Given the description of an element on the screen output the (x, y) to click on. 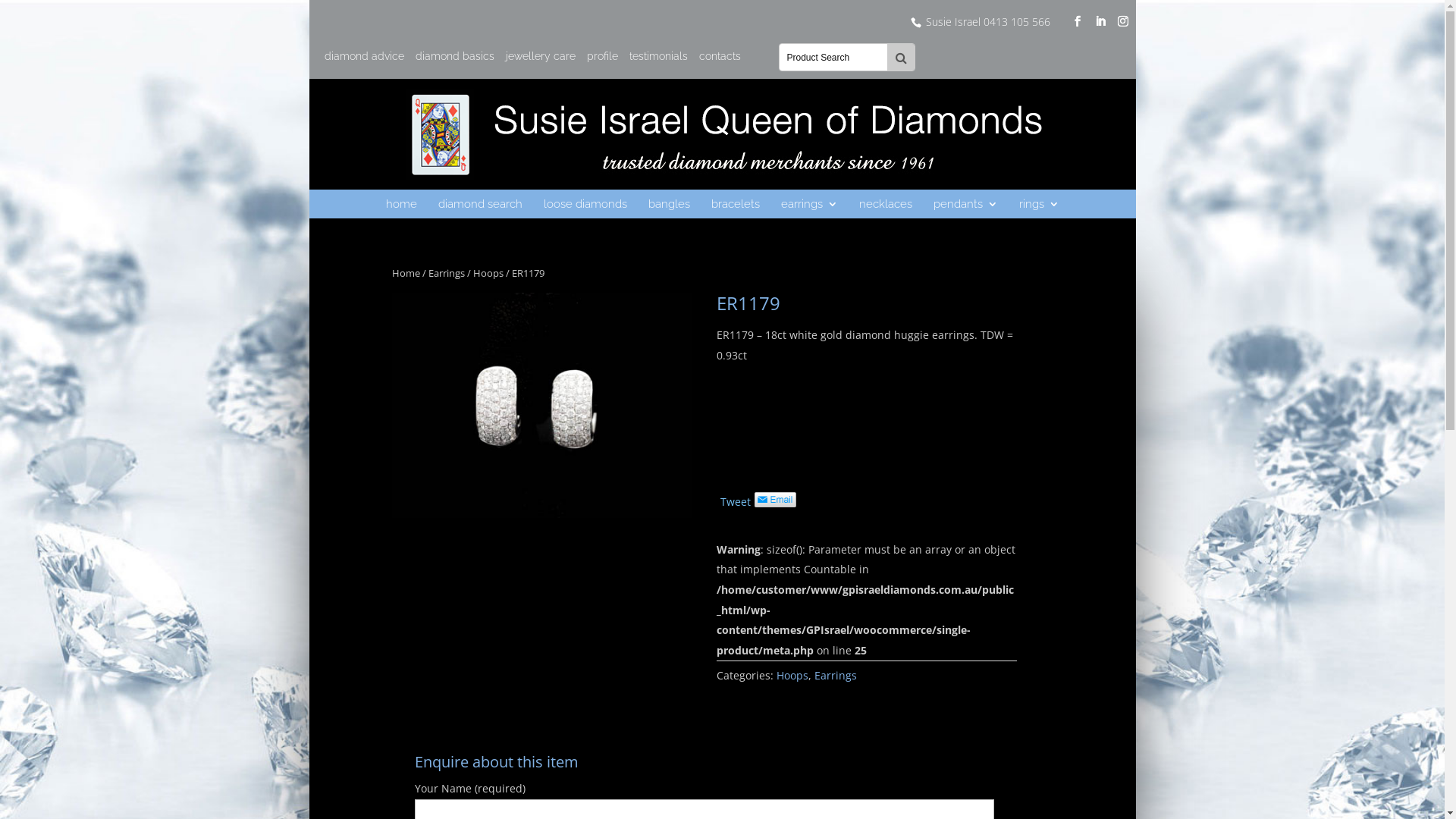
jewellery care Element type: text (539, 60)
testimonials Element type: text (658, 60)
earrings Element type: text (809, 203)
Earrings Element type: text (835, 675)
loose diamonds Element type: text (584, 203)
bangles Element type: text (668, 203)
pendants Element type: text (964, 203)
home Element type: text (400, 203)
contacts Element type: text (719, 60)
bracelets Element type: text (735, 203)
diamond basics Element type: text (454, 60)
Earrings Element type: text (445, 272)
diamond search Element type: text (480, 203)
Hoops Element type: text (488, 272)
diamond advice Element type: text (364, 60)
rings Element type: text (1039, 203)
Tweet Element type: text (735, 501)
profile Element type: text (602, 60)
OLYMPUS DIGITAL CAMERA Element type: hover (541, 404)
Hoops Element type: text (792, 675)
Home Element type: text (405, 272)
necklaces Element type: text (884, 203)
